Given the description of an element on the screen output the (x, y) to click on. 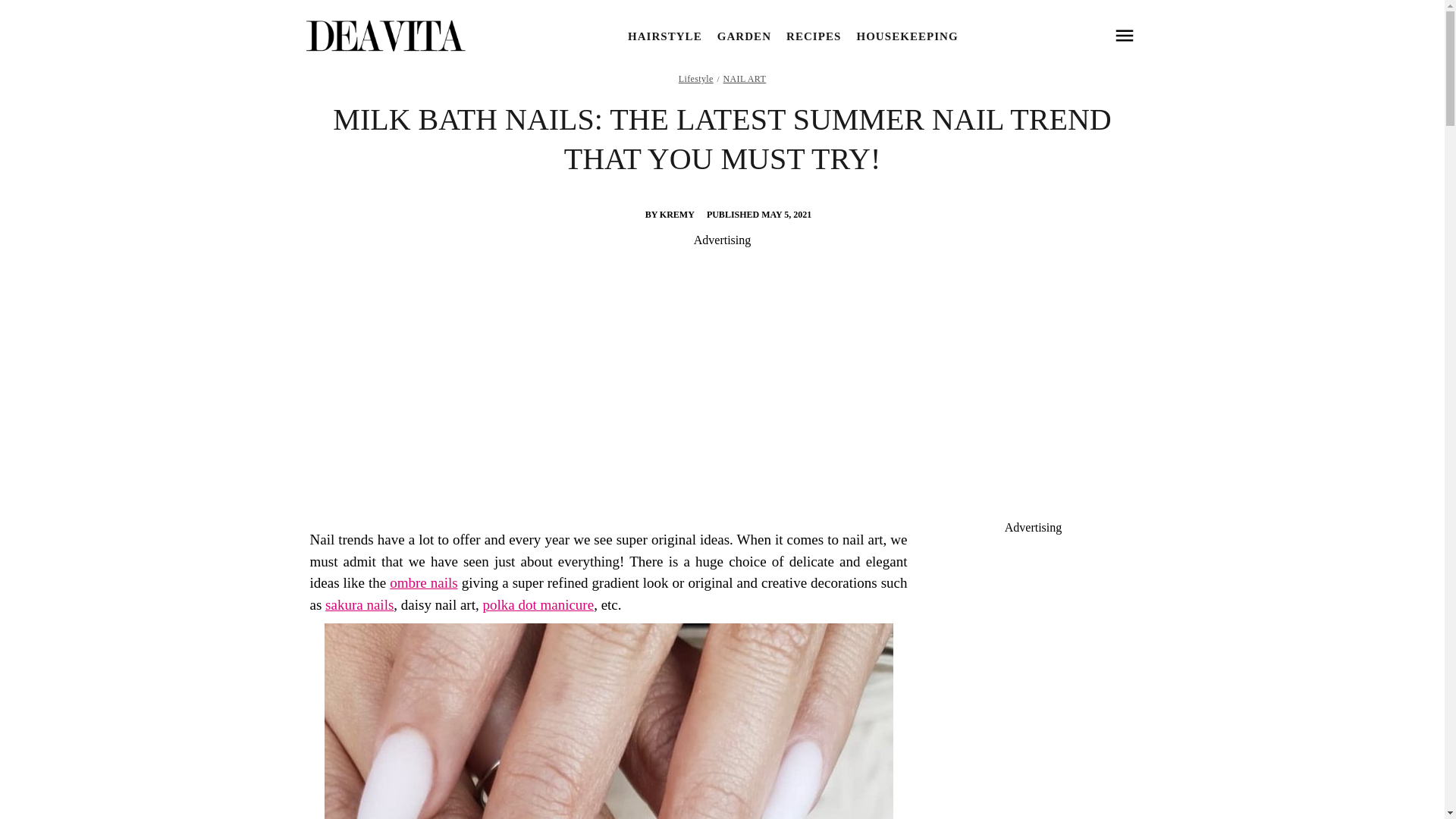
GARDEN (744, 36)
HAIRSTYLE (664, 36)
RECIPES (813, 36)
HOUSEKEEPING (907, 36)
open menu (1124, 36)
Milk Bath Nails Summer Nail Trend That You Must Try (608, 721)
Deavita (383, 36)
